Given the description of an element on the screen output the (x, y) to click on. 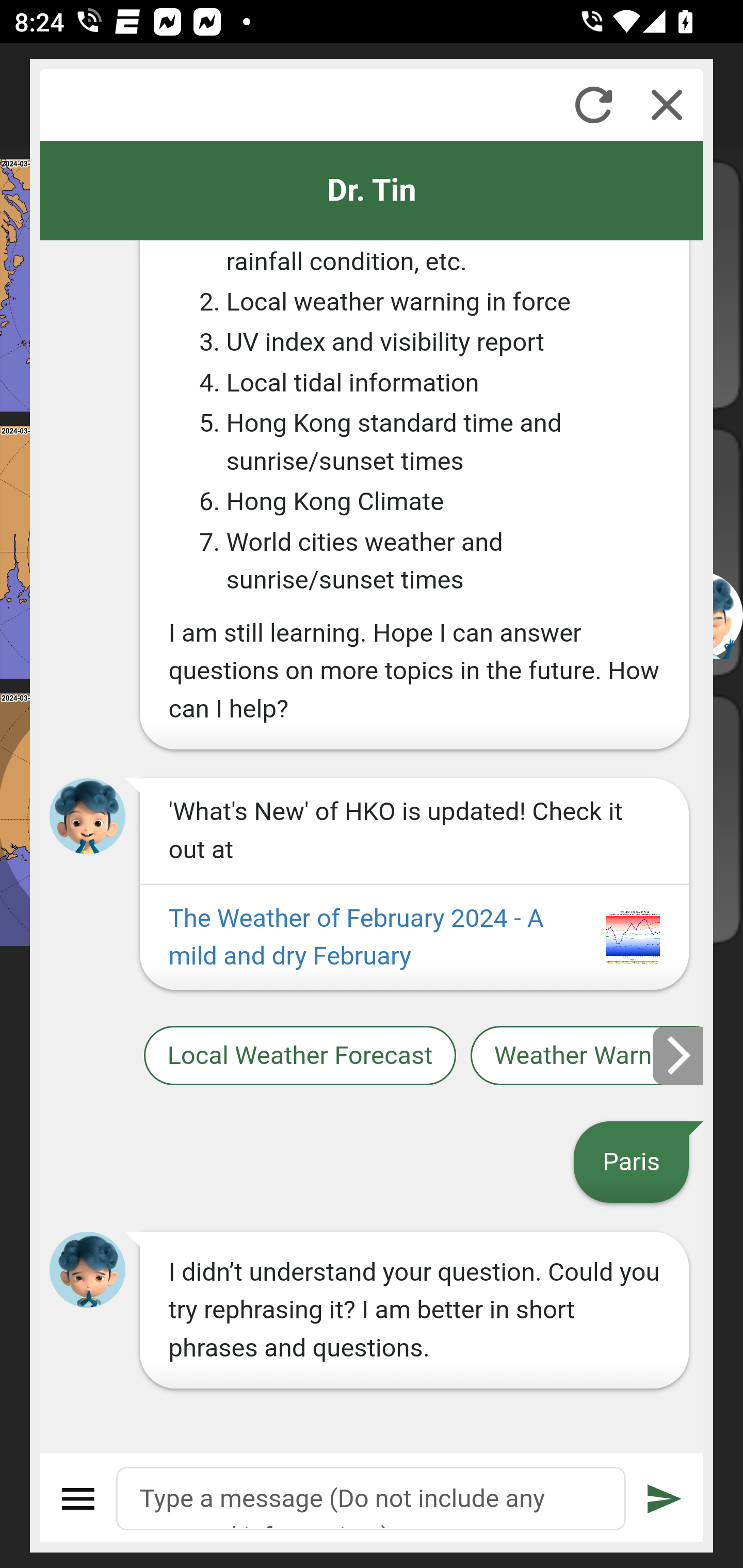
Refresh (593, 104)
Close (666, 104)
Local Weather Forecast (299, 1055)
Weather Warnings (587, 1055)
Next slide (678, 1055)
Menu (78, 1498)
Submit (665, 1498)
